Given the description of an element on the screen output the (x, y) to click on. 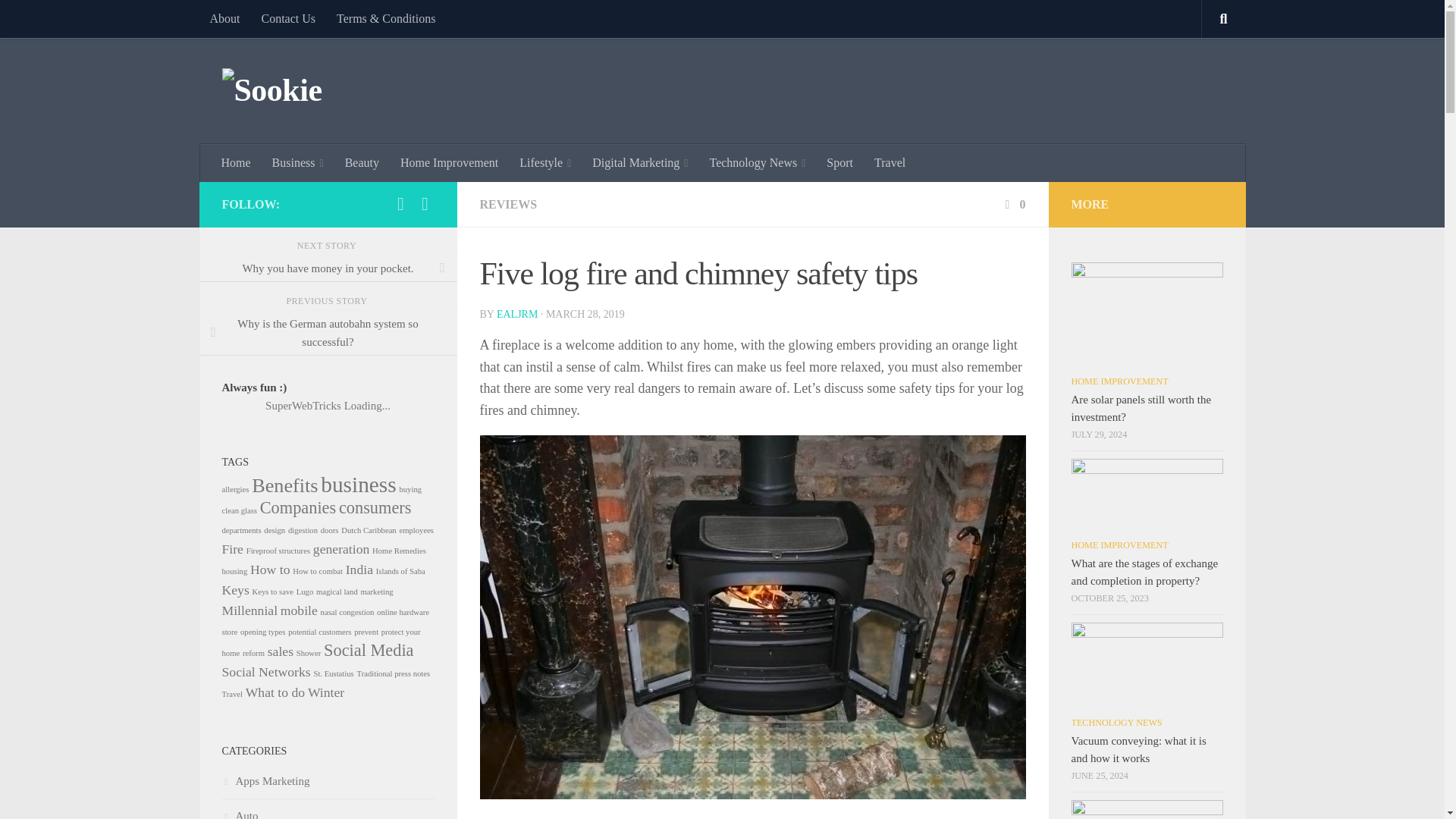
Contact Us (288, 18)
About (224, 18)
Business (298, 162)
Facebook (400, 203)
Twitter (423, 203)
Home (236, 162)
Posts by EaLjrm (516, 314)
Skip to content (59, 20)
